Given the description of an element on the screen output the (x, y) to click on. 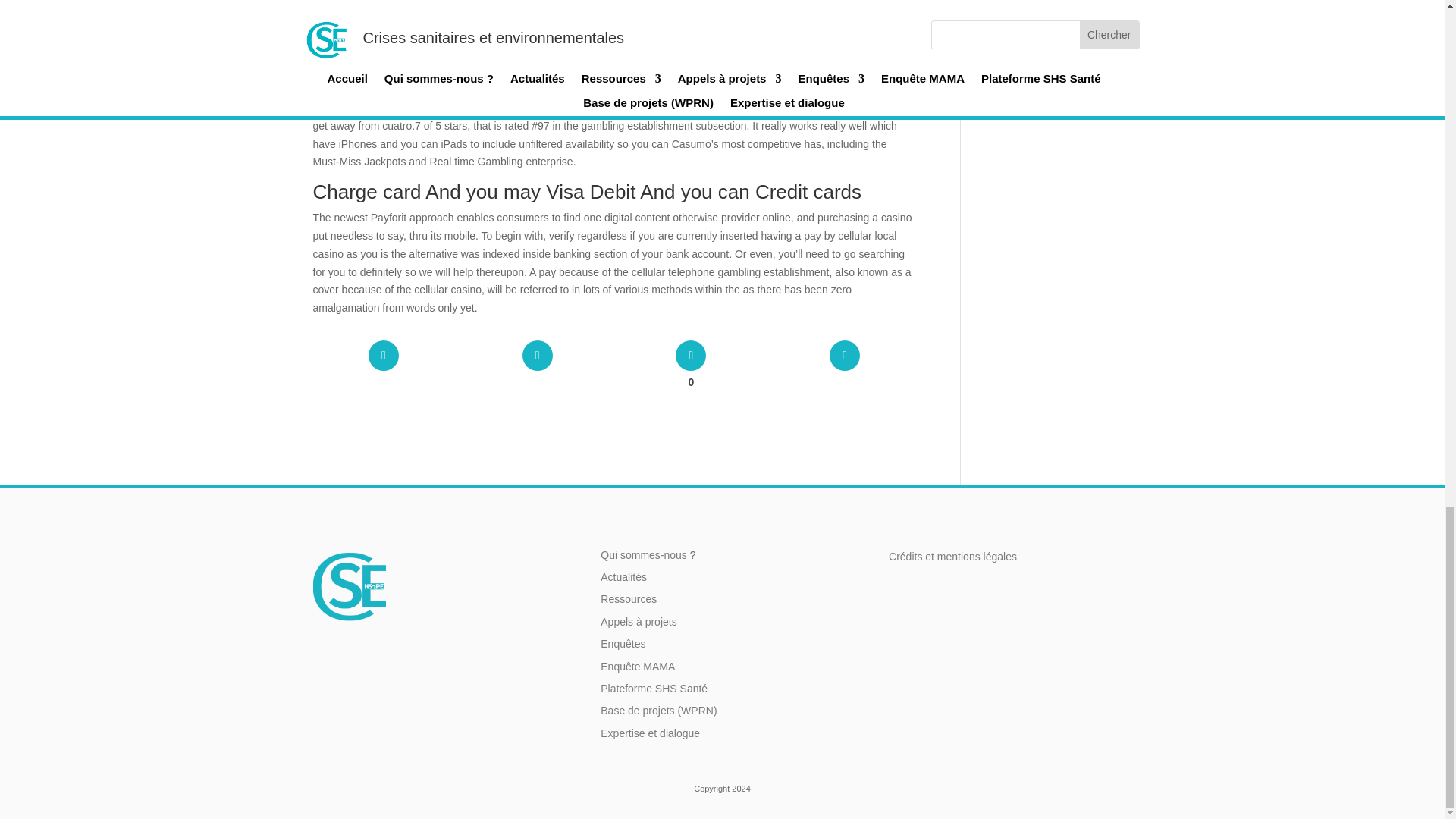
logoHS3PE (349, 585)
Qui somme nous ? (643, 554)
